Given the description of an element on the screen output the (x, y) to click on. 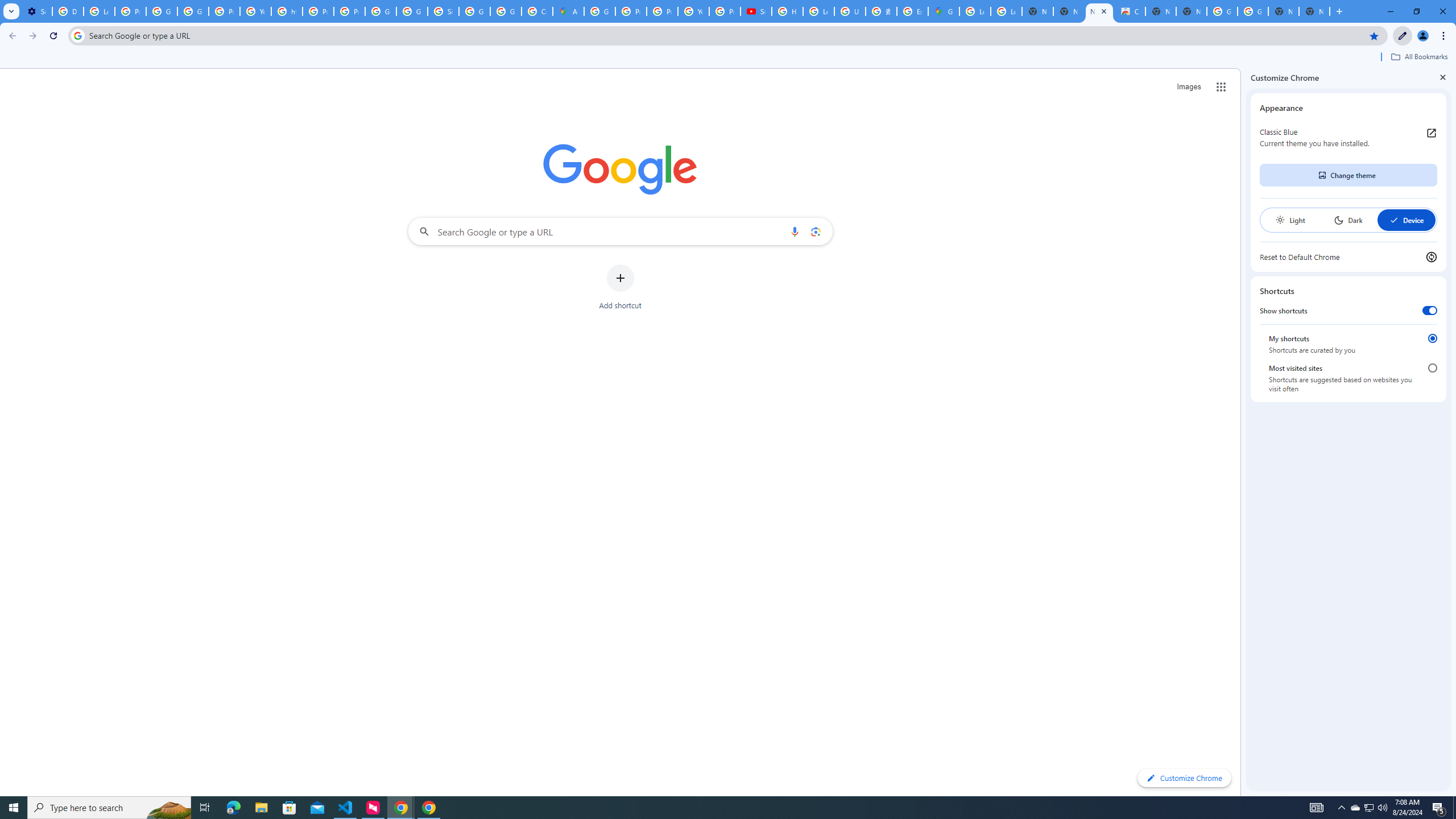
Delete photos & videos - Computer - Google Photos Help (67, 11)
Most visited sites (1432, 367)
Reset to Default Chrome (1347, 256)
Privacy Help Center - Policies Help (631, 11)
Chrome Web Store (1129, 11)
YouTube (693, 11)
Device (1406, 219)
Dark (1348, 219)
